Given the description of an element on the screen output the (x, y) to click on. 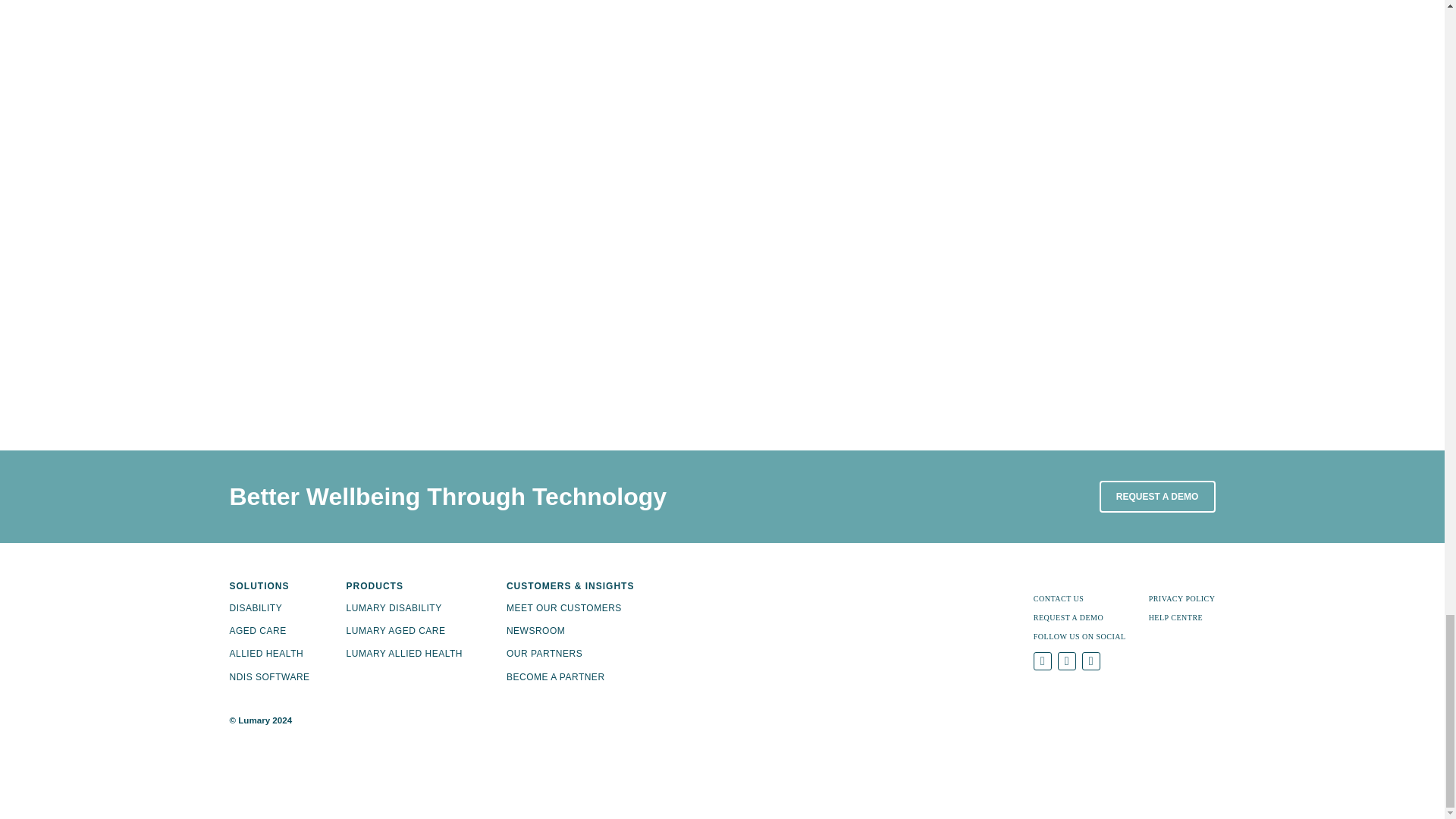
SOLUTIONS (268, 586)
REQUEST A DEMO (1157, 496)
LUMARY AGED CARE (395, 630)
LUMARY DISABILITY (394, 607)
NDIS SOFTWARE (268, 676)
AGED CARE (256, 630)
PRODUCTS (404, 586)
DISABILITY (255, 607)
ALLIED HEALTH (265, 653)
